Given the description of an element on the screen output the (x, y) to click on. 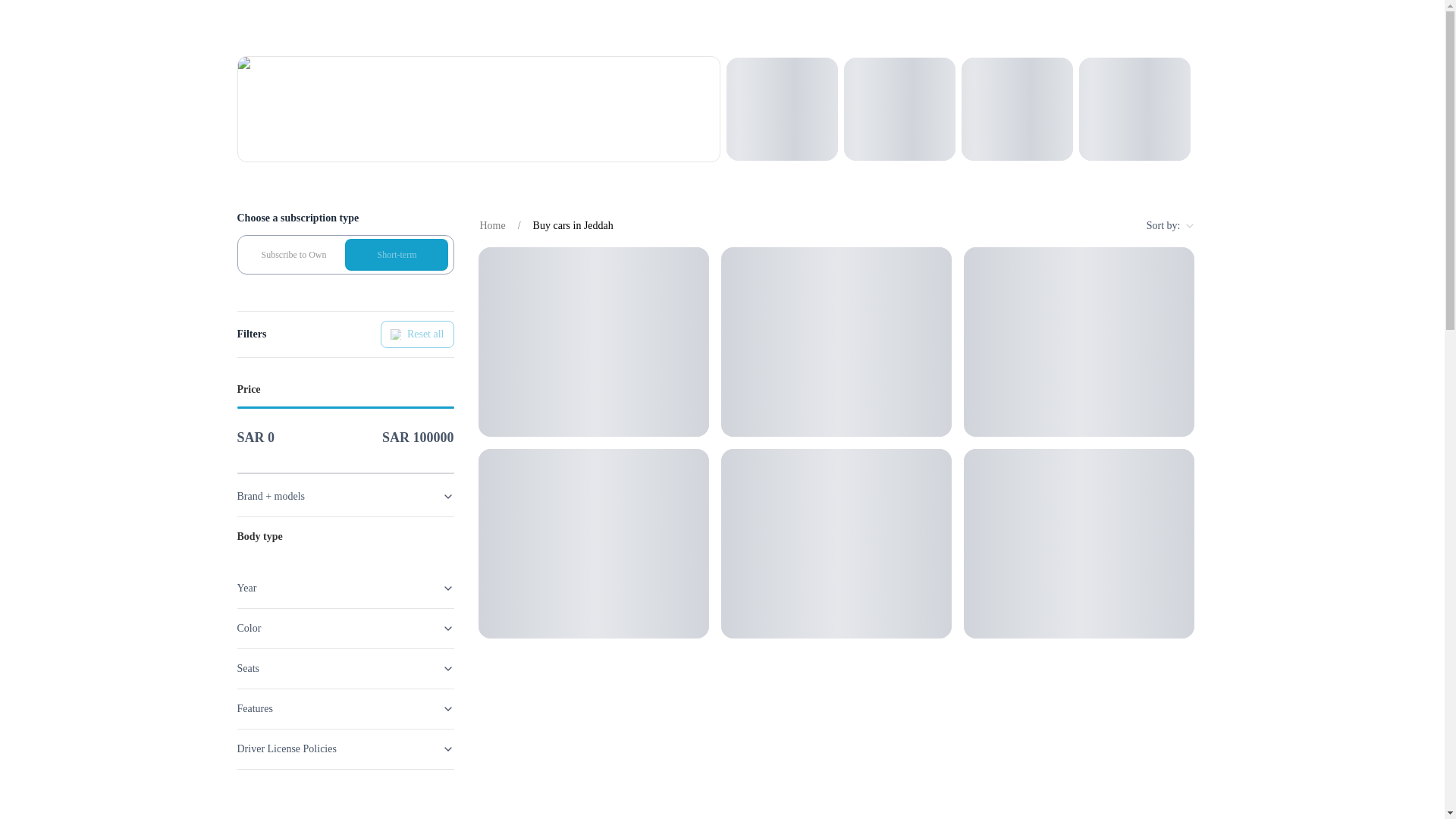
Short-term (397, 254)
Body type (343, 536)
Reset all (417, 334)
Buy cars in Jeddah (572, 225)
Seats (343, 669)
Home (491, 225)
Price (343, 389)
Year (343, 588)
Color (343, 629)
Driver License Policies (343, 749)
